Given the description of an element on the screen output the (x, y) to click on. 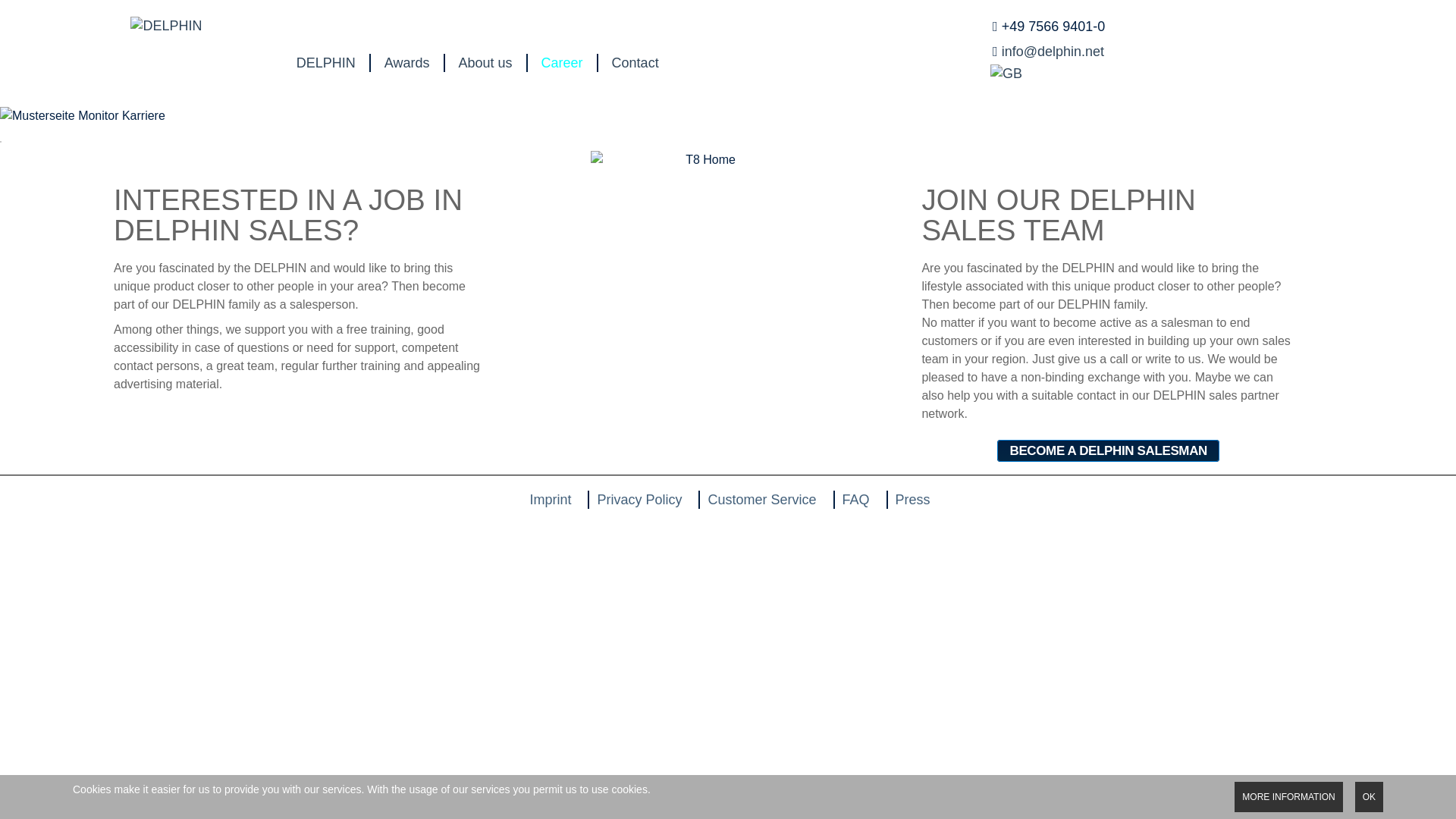
Contact (635, 63)
Contact (635, 63)
Career (562, 63)
DELPHIN (326, 63)
GB (1006, 73)
Awards (406, 63)
DELPHIN (326, 63)
Awards (406, 63)
Career (562, 63)
DELPHIN (166, 45)
About us (485, 63)
About us (485, 63)
En (1011, 72)
